Given the description of an element on the screen output the (x, y) to click on. 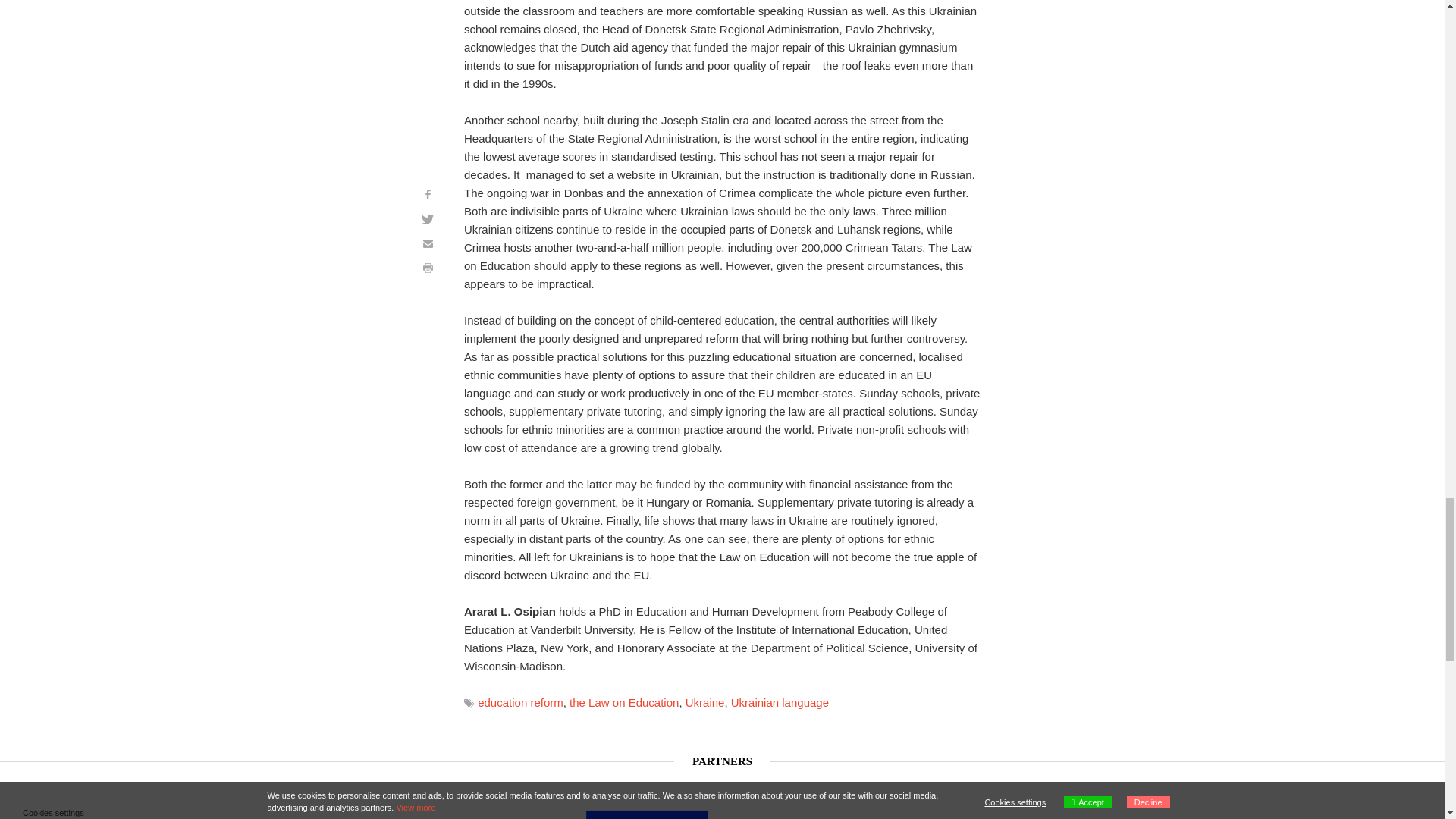
Ukraine (705, 702)
the Law on Education (623, 702)
Ukrainian language (779, 702)
education reform (520, 702)
